Given the description of an element on the screen output the (x, y) to click on. 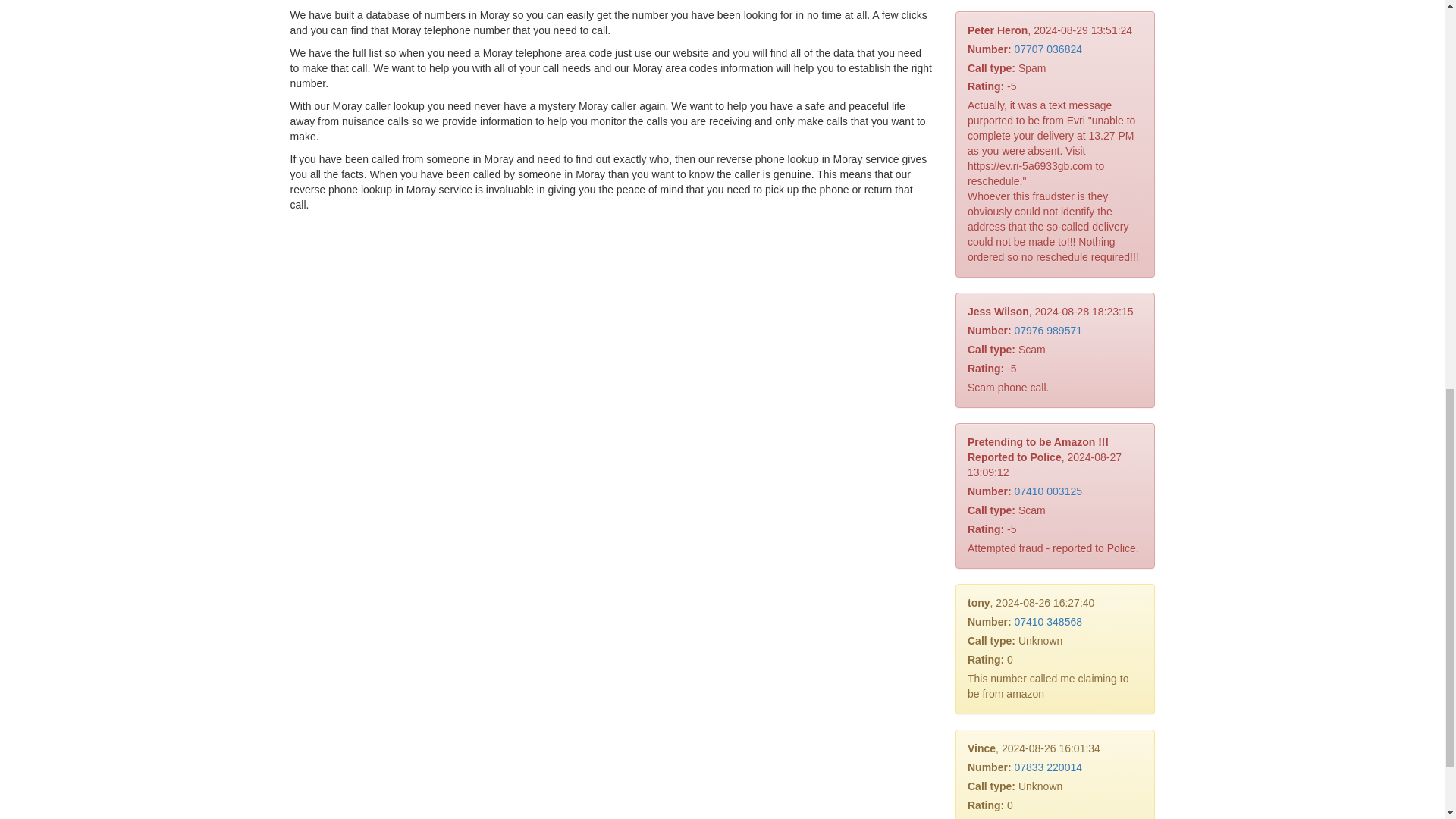
07707 036824 (1047, 49)
07976 989571 (1047, 330)
07410 003125 (1047, 491)
07707 036824 (1047, 49)
07976 989571 (1047, 330)
07410 003125 (1047, 491)
07410 348568 (1047, 621)
07833 220014 (1047, 767)
